Given the description of an element on the screen output the (x, y) to click on. 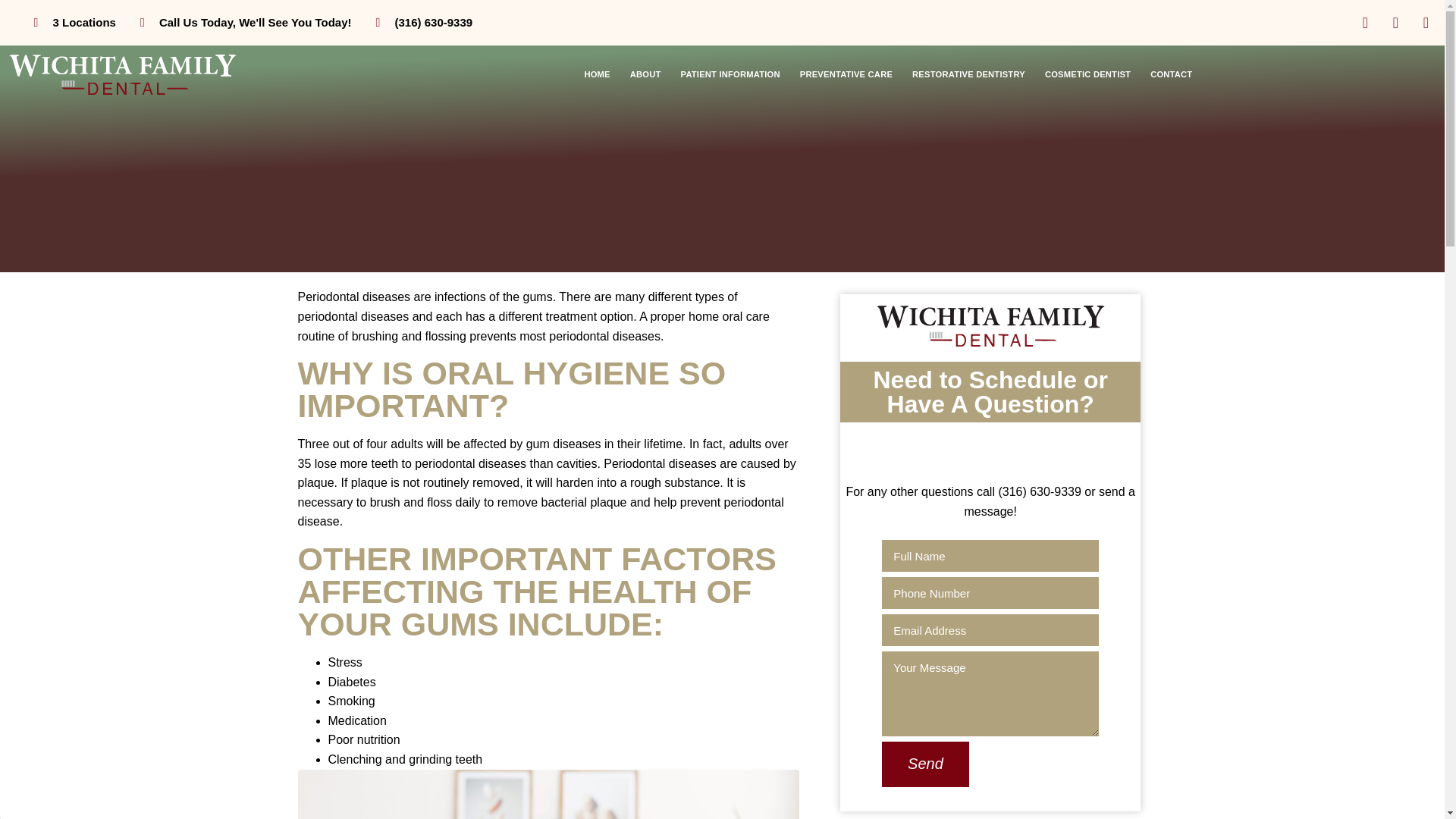
PREVENTATIVE CARE (846, 74)
ABOUT (645, 74)
HOME (596, 74)
PATIENT INFORMATION (730, 74)
